Given the description of an element on the screen output the (x, y) to click on. 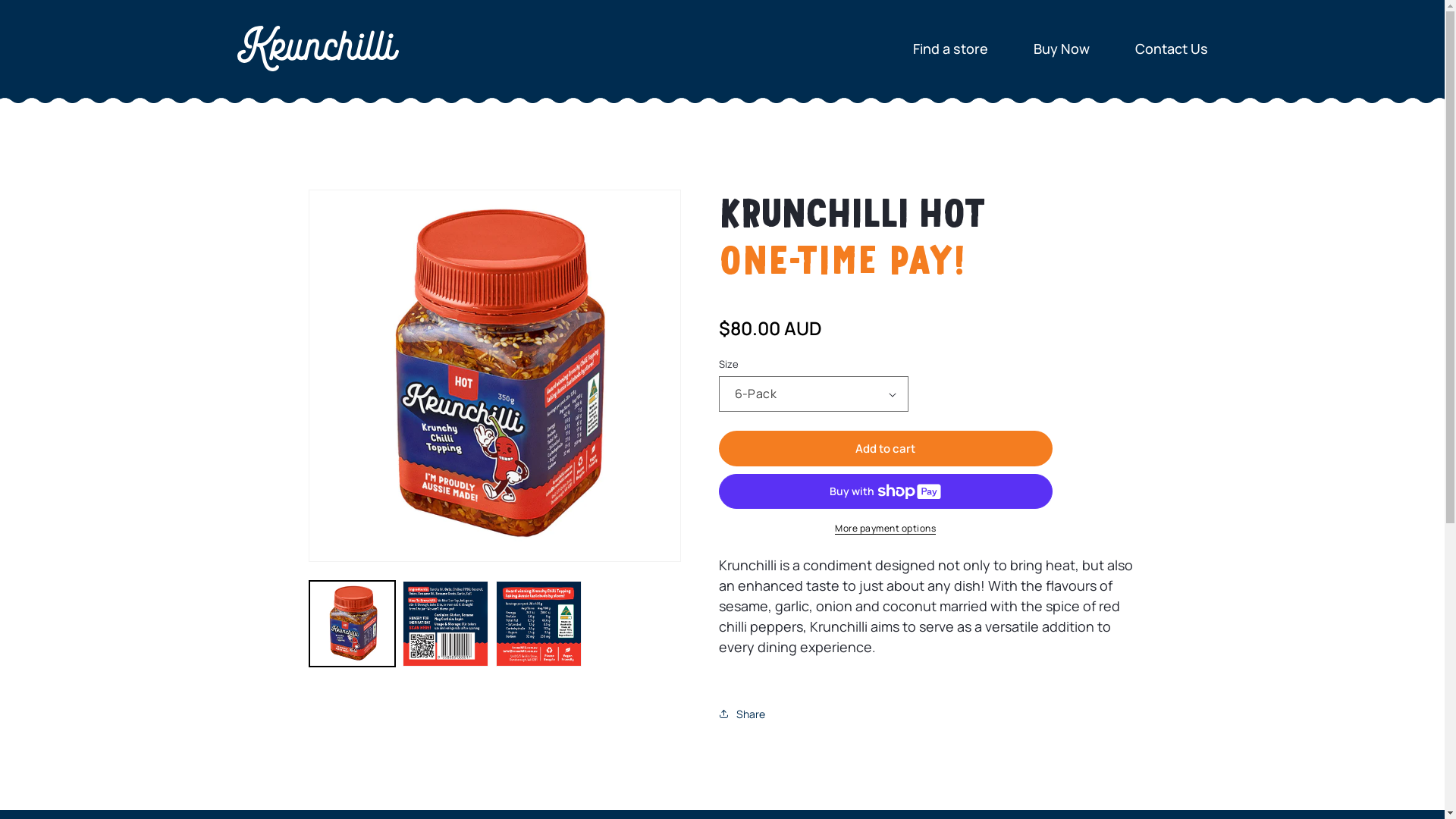
Skip to product information Element type: text (350, 206)
More payment options Element type: text (885, 528)
Find a store Element type: text (950, 48)
Add to cart Element type: text (885, 448)
https://www.krunchilli.com.au/products/krunchilli-hot Element type: text (807, 763)
Buy Now Element type: text (1060, 48)
Contact Us Element type: text (1170, 48)
